Given the description of an element on the screen output the (x, y) to click on. 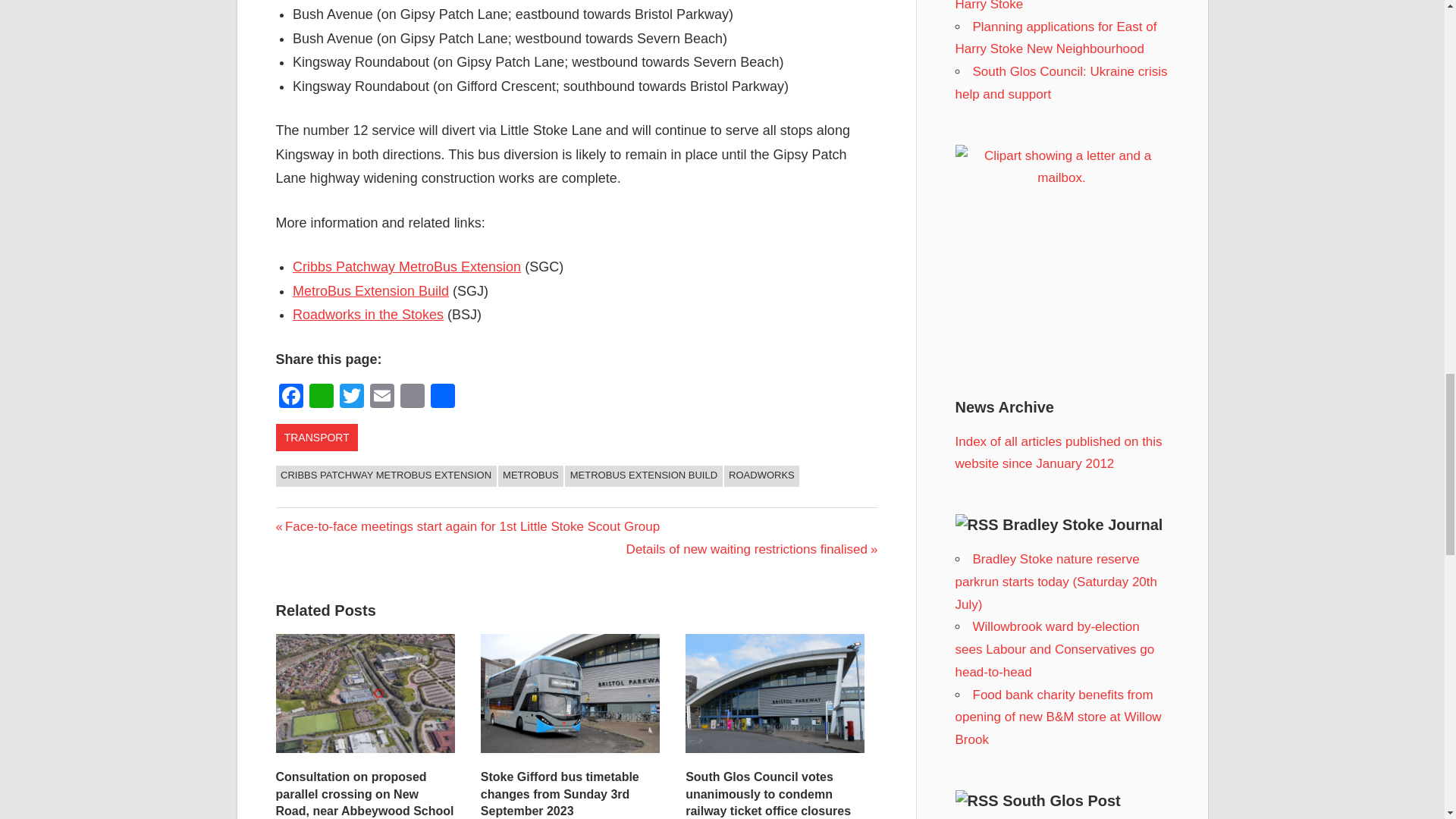
Facebook (290, 397)
WhatsApp (320, 397)
Twitter (351, 397)
Copy Link (412, 397)
Email (381, 397)
